Given the description of an element on the screen output the (x, y) to click on. 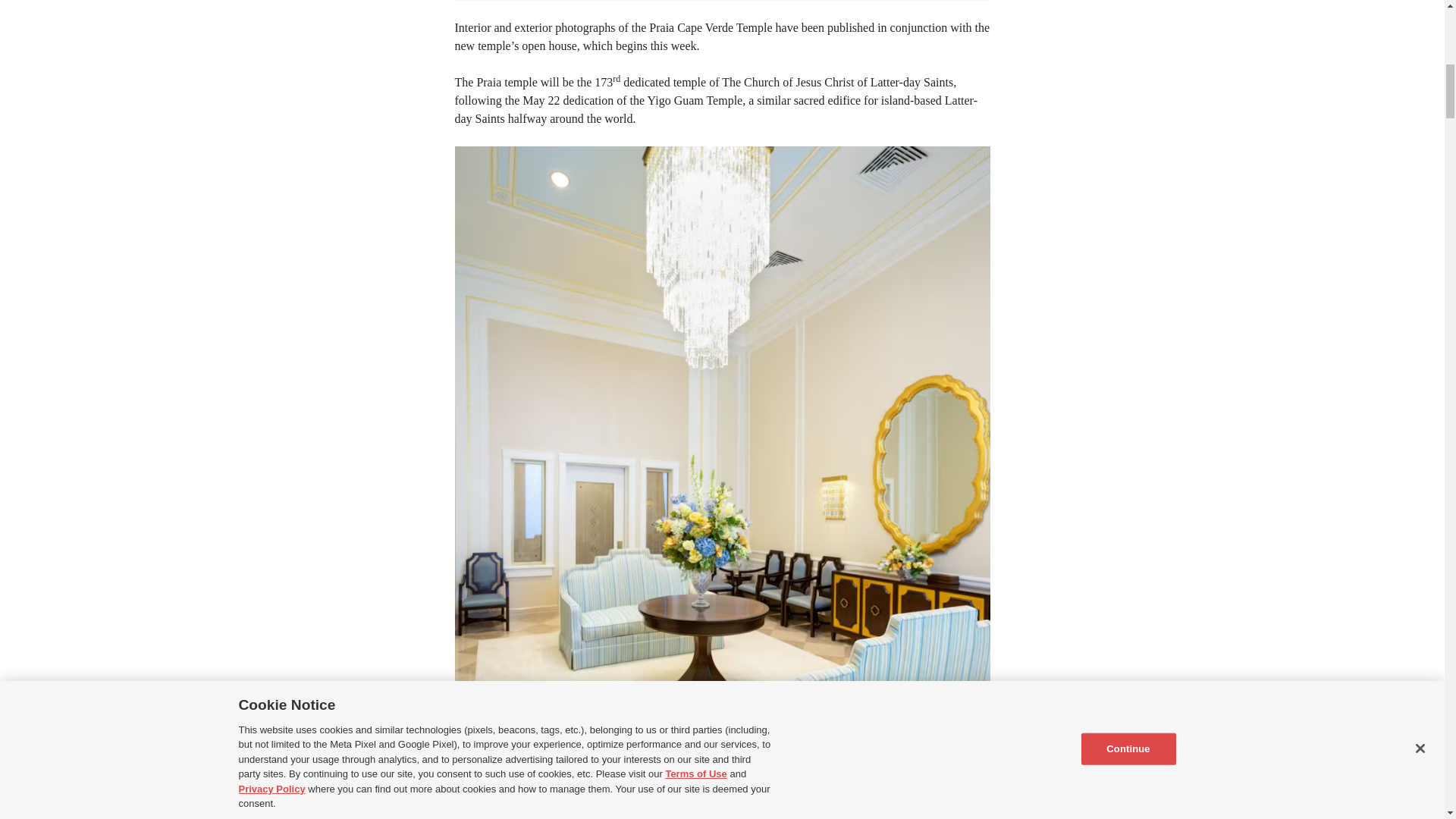
The images were published Wednesday, May 18 (571, 746)
